Given the description of an element on the screen output the (x, y) to click on. 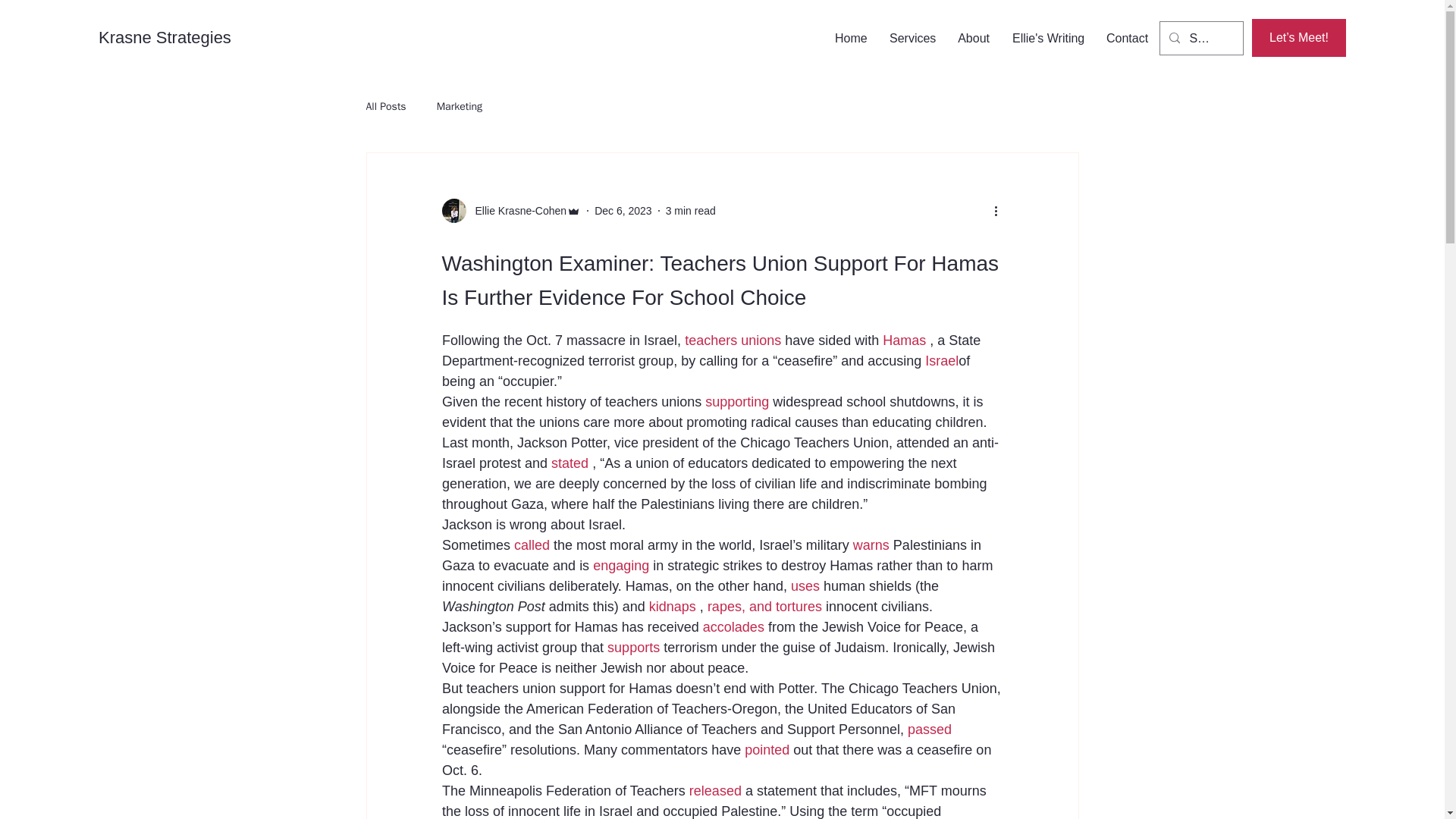
About (972, 37)
3 min read (690, 210)
Dec 6, 2023 (623, 210)
Hamas (904, 340)
Marketing (458, 106)
pointed (766, 749)
All Posts (385, 106)
passed (929, 729)
Ellie's Writing (1047, 37)
supports (633, 647)
